Given the description of an element on the screen output the (x, y) to click on. 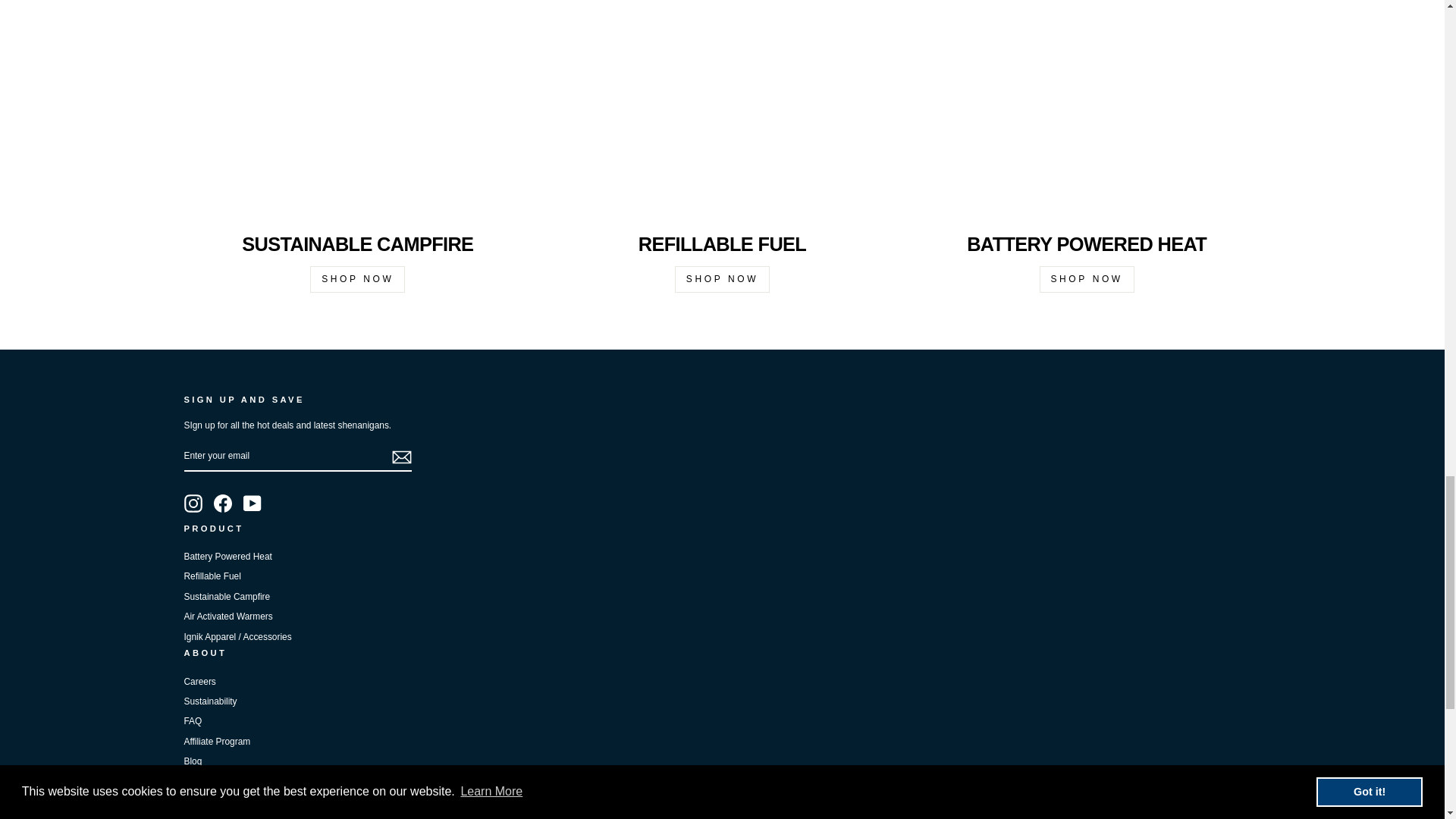
Ignik Outdoors on Instagram (192, 503)
instagram (192, 503)
icon-email (400, 456)
Ignik Outdoors on Facebook (222, 503)
Ignik Outdoors on YouTube (251, 503)
